Given the description of an element on the screen output the (x, y) to click on. 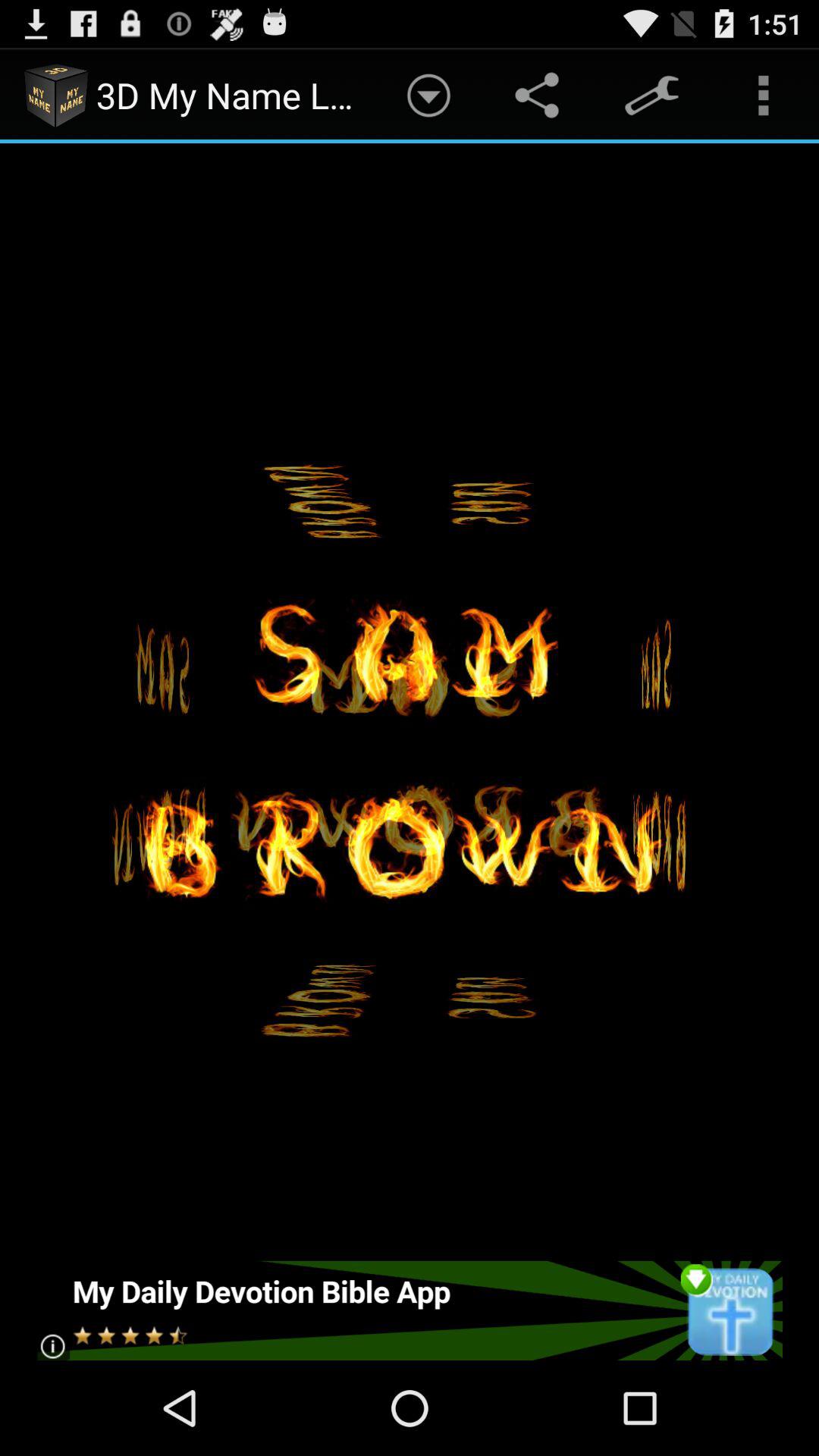
turn on icon next to 3d my name (428, 95)
